Given the description of an element on the screen output the (x, y) to click on. 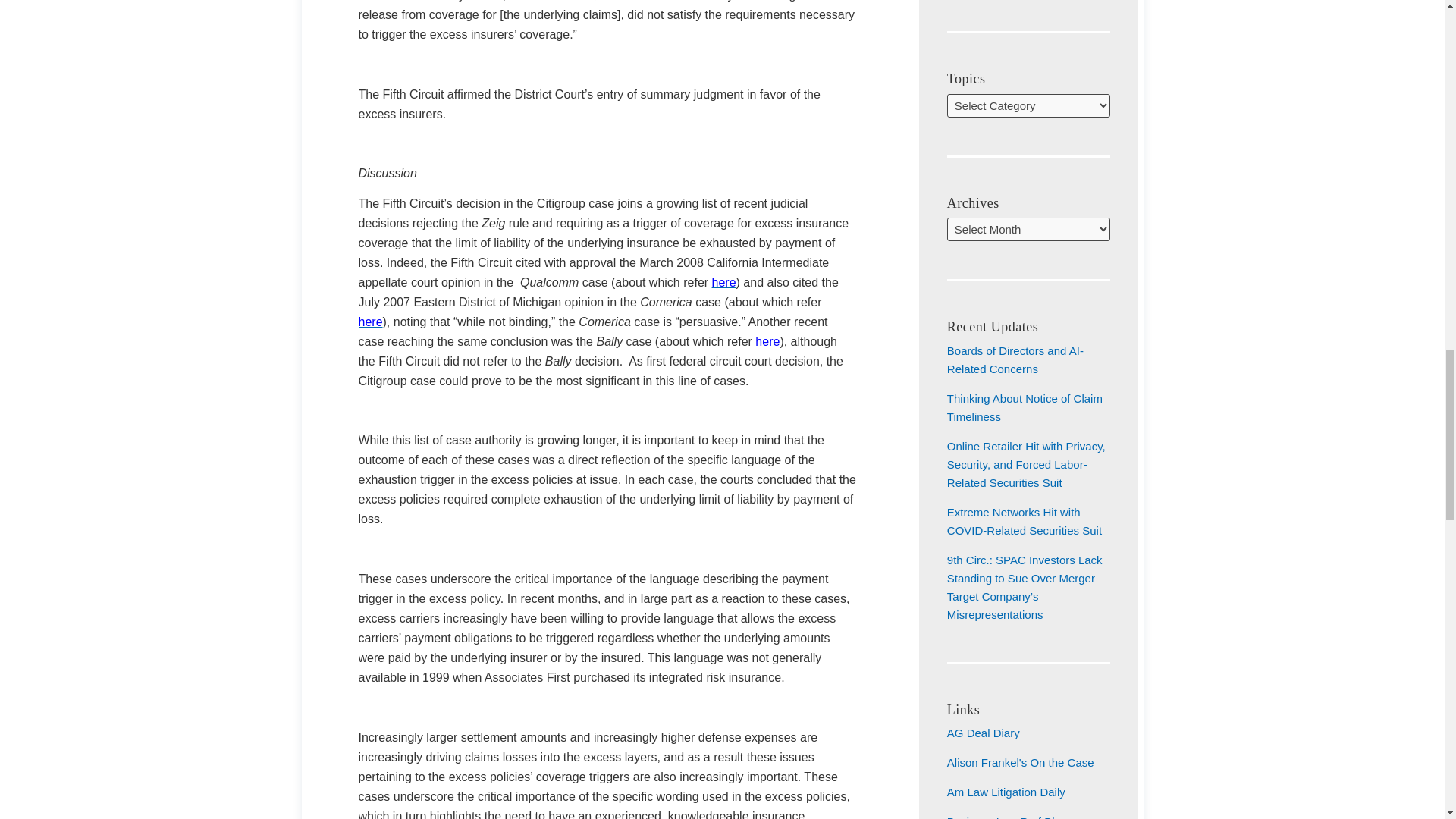
here (723, 282)
here (766, 341)
here (369, 321)
